Given the description of an element on the screen output the (x, y) to click on. 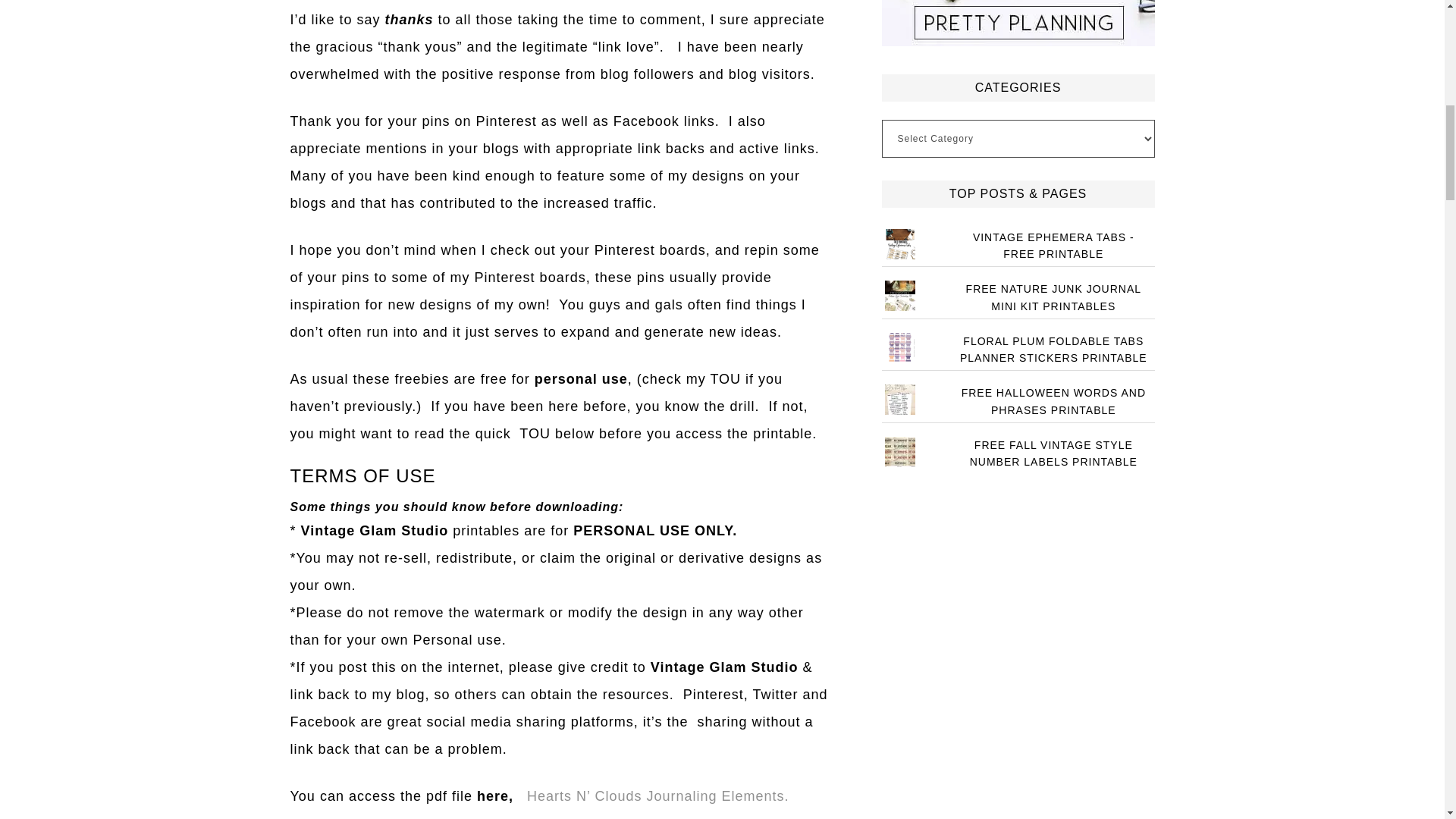
Floral Plum Foldable Tabs Planner Stickers Printable (1053, 349)
Free Halloween Words and Phrases Printable (1052, 401)
Free Fall Vintage Style Number Labels Printable (1053, 452)
Free Nature Junk Journal Mini Kit Printables (1053, 297)
Vintage Ephemera Tabs - Free Printable (1053, 245)
